Given the description of an element on the screen output the (x, y) to click on. 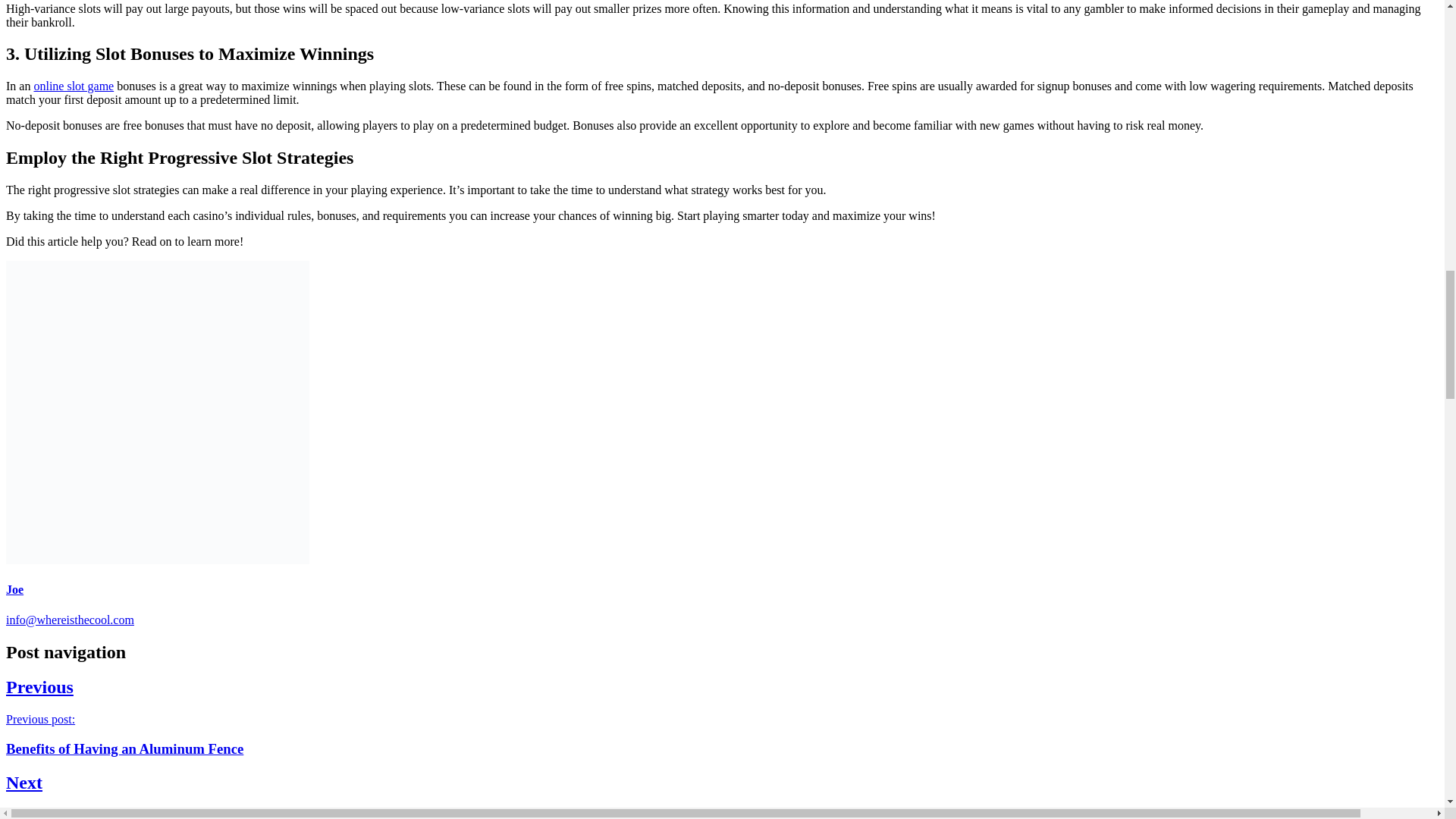
online slot game (721, 796)
Joe (73, 85)
